Given the description of an element on the screen output the (x, y) to click on. 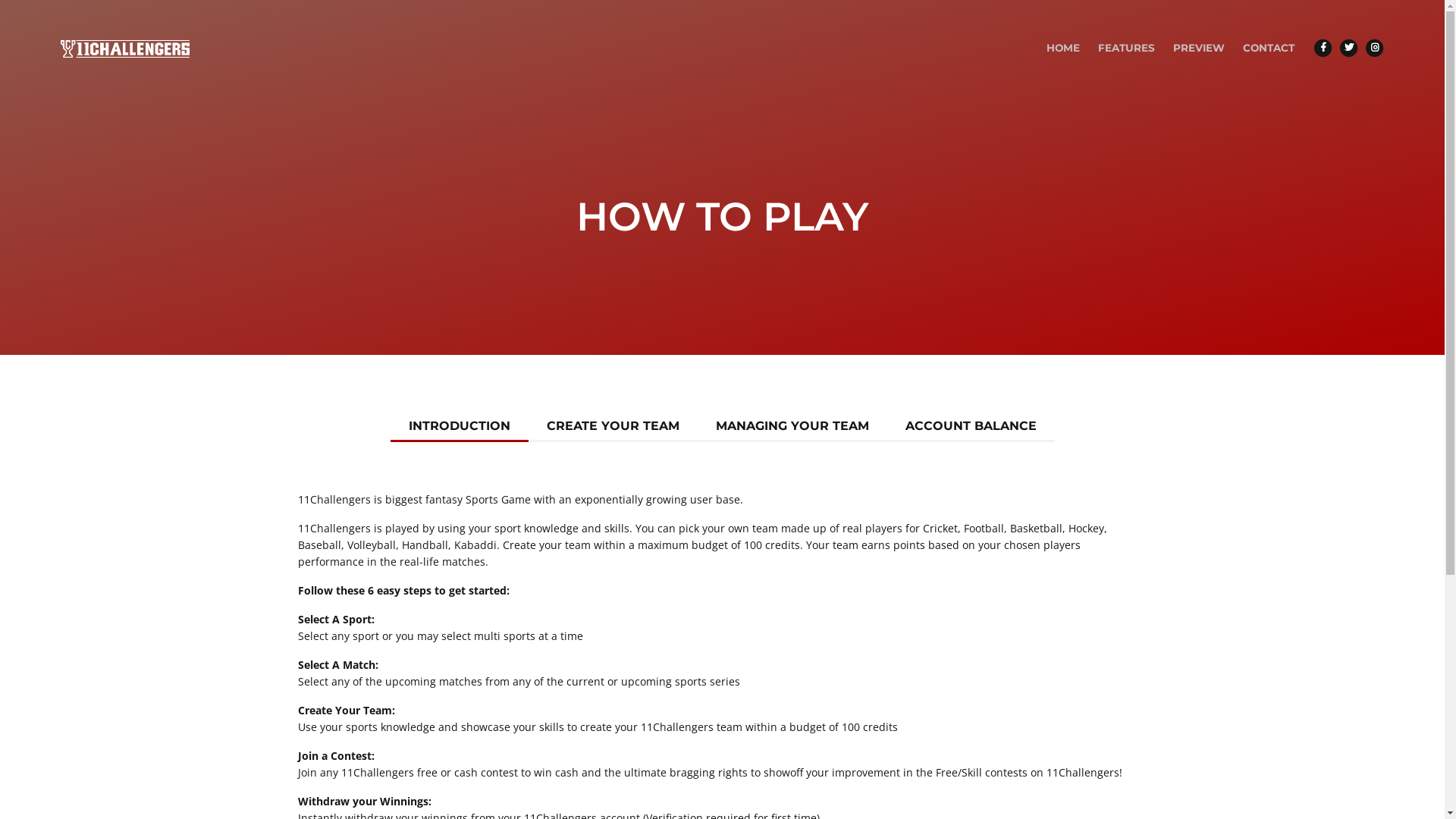
ACCOUNT BALANCE Element type: text (970, 428)
CREATE YOUR TEAM Element type: text (611, 428)
HOME
(current) Element type: text (1062, 47)
INTRODUCTION Element type: text (458, 428)
PREVIEW Element type: text (1198, 47)
CONTACT Element type: text (1268, 47)
FEATURES Element type: text (1126, 47)
MANAGING YOUR TEAM Element type: text (792, 428)
